Given the description of an element on the screen output the (x, y) to click on. 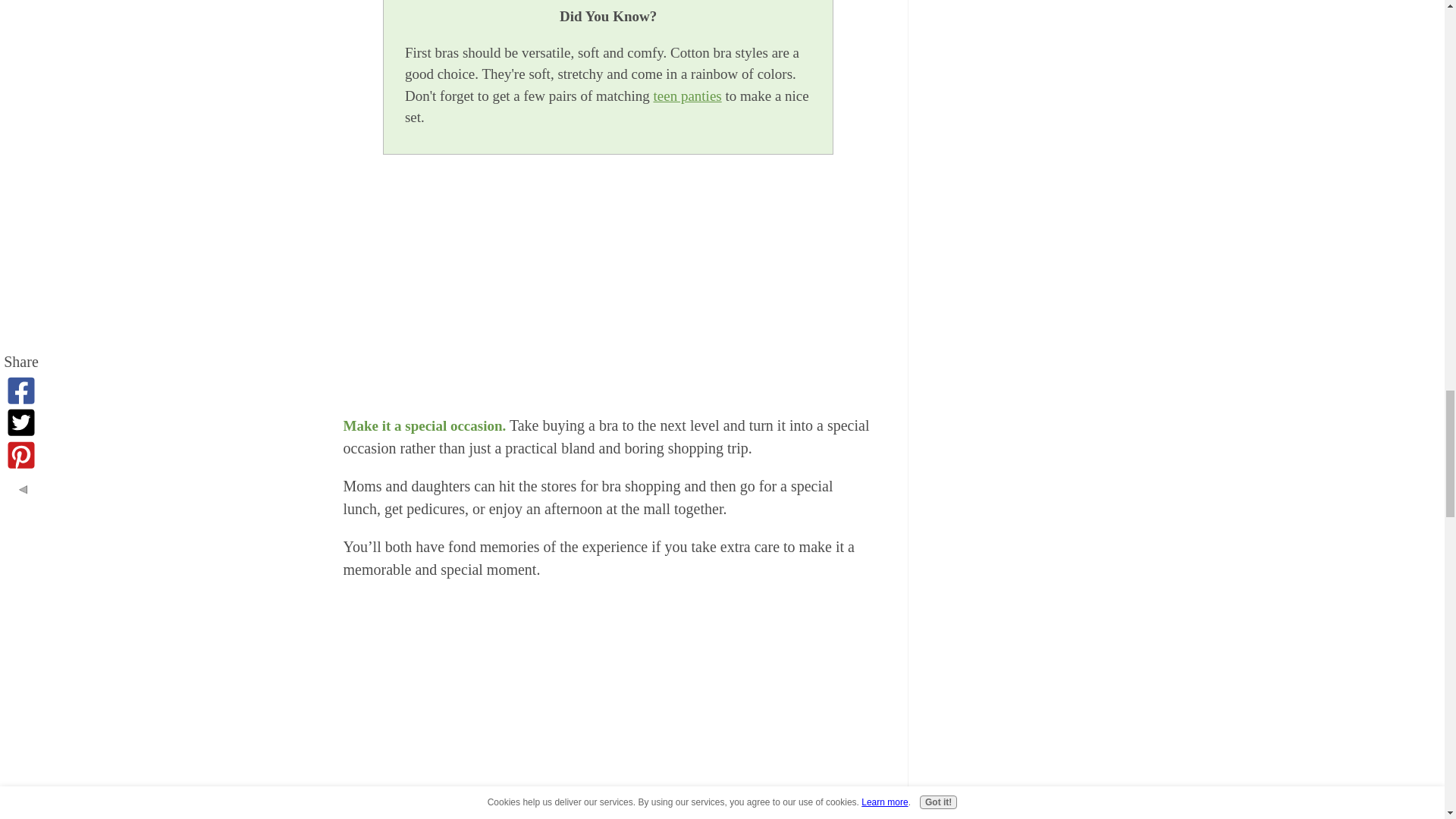
preteen bras (608, 705)
first bras (608, 286)
